Given the description of an element on the screen output the (x, y) to click on. 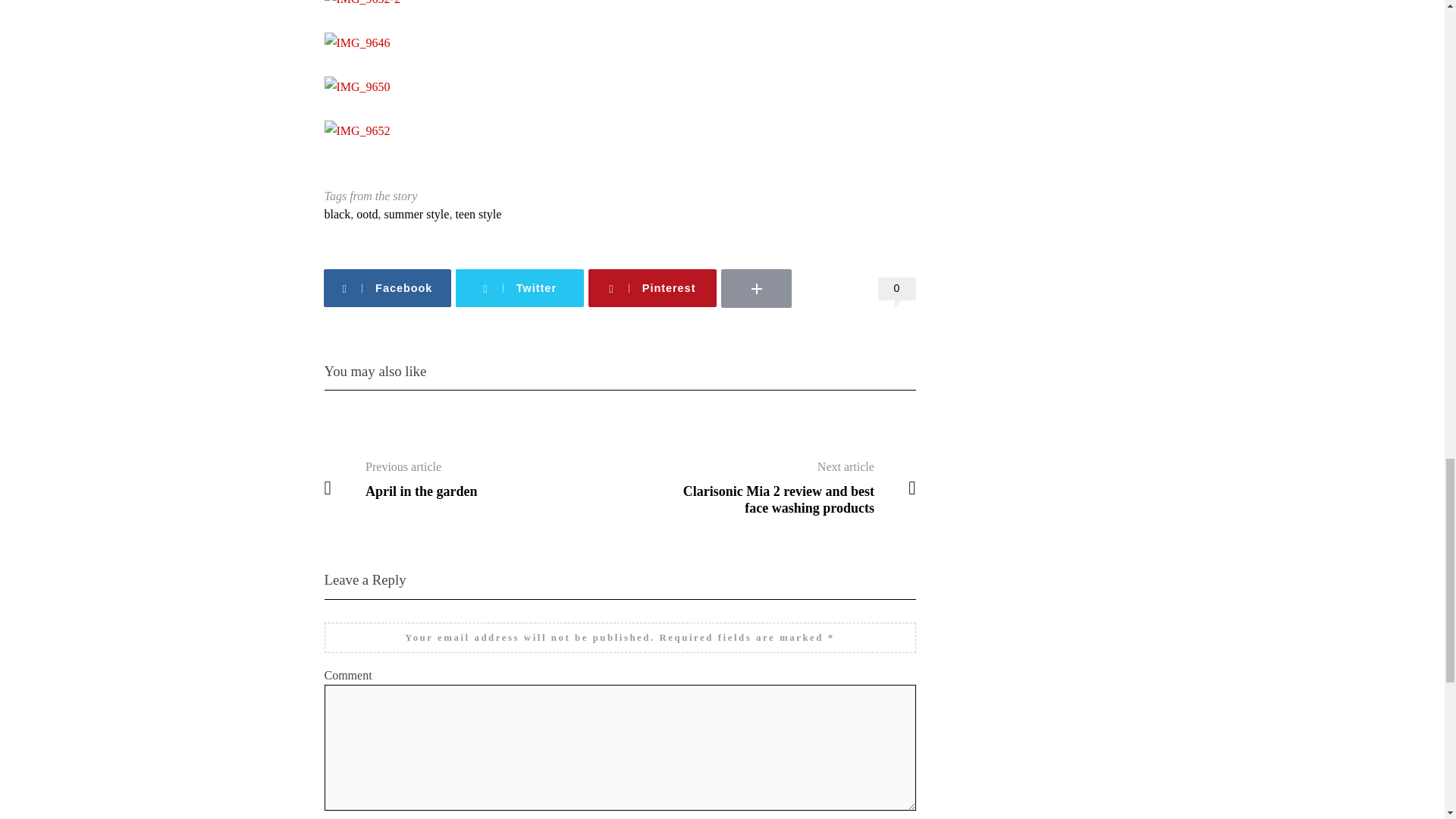
0 (896, 288)
ootd (366, 214)
Facebook (387, 288)
black (337, 214)
Twitter (519, 288)
summer style (416, 214)
Pinterest (652, 288)
teen style (477, 214)
